Given the description of an element on the screen output the (x, y) to click on. 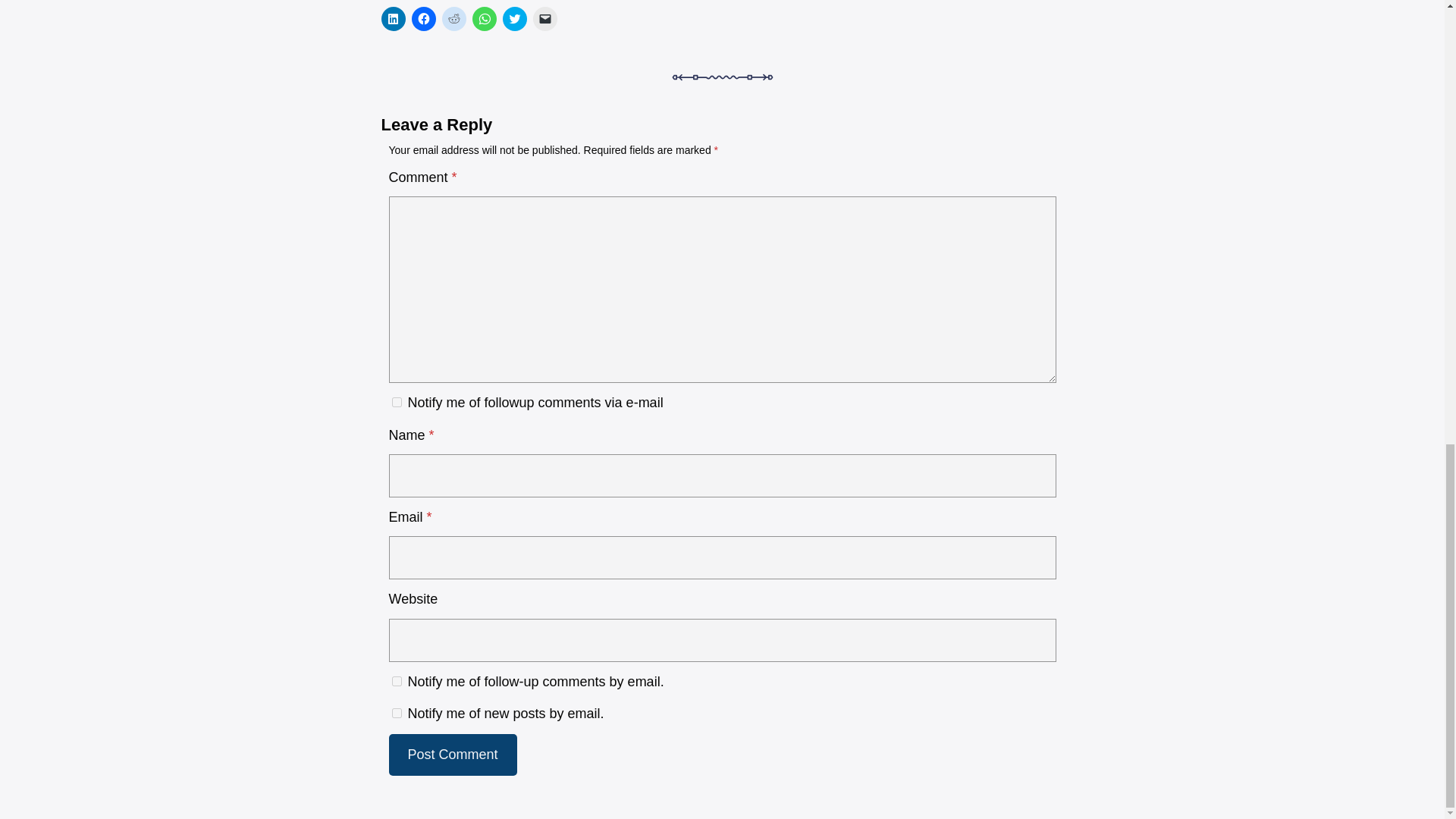
Post Comment (452, 754)
Click to email a link to a friend (544, 18)
Click to share on Facebook (422, 18)
Click to share on Twitter (513, 18)
Post Comment (452, 754)
Click to share on WhatsApp (483, 18)
subscribe (396, 713)
subscribe (396, 681)
Click to share on Reddit (453, 18)
subscribe (396, 402)
Click to share on LinkedIn (392, 18)
